Given the description of an element on the screen output the (x, y) to click on. 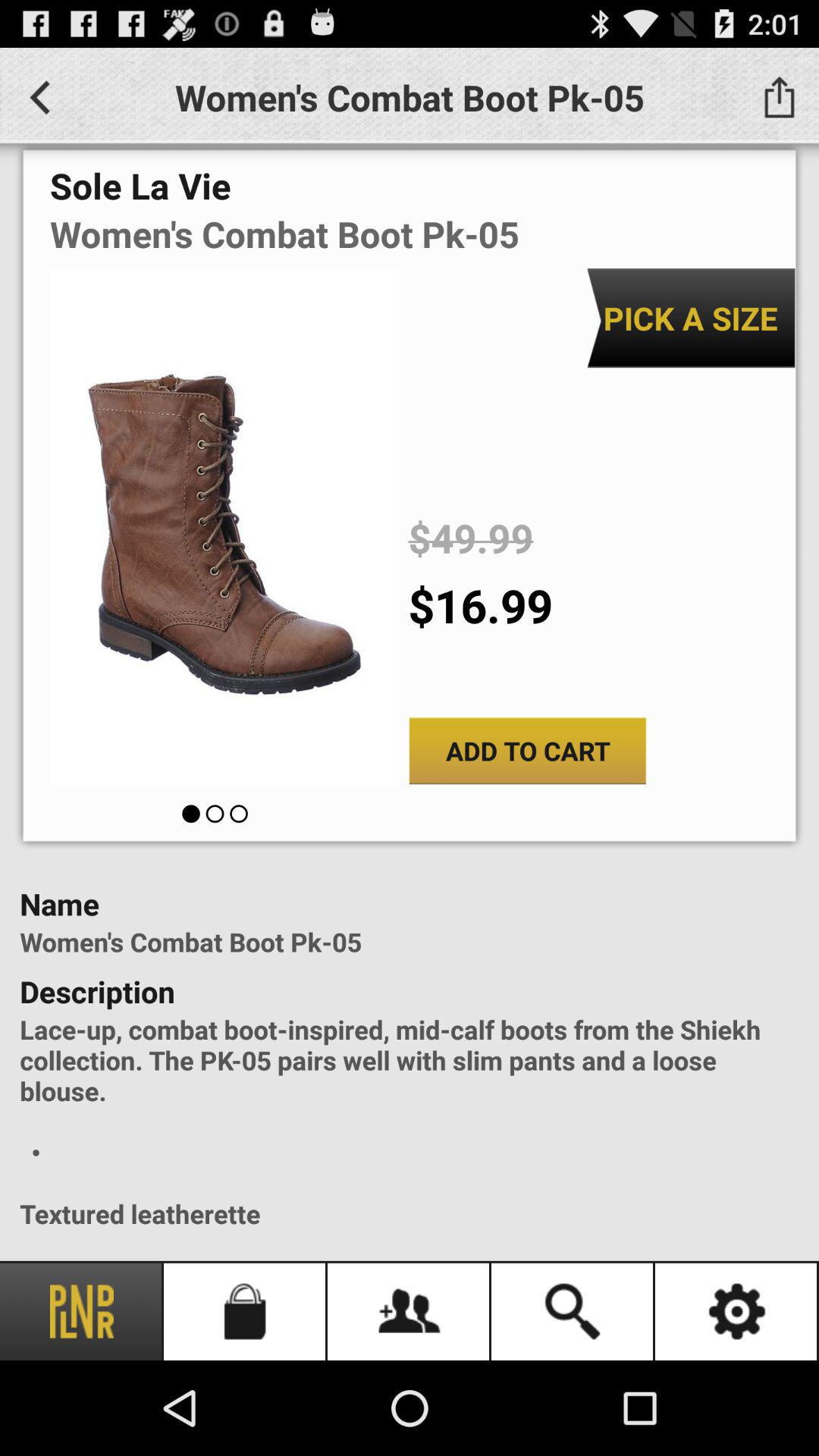
tap icon below women s combat app (690, 317)
